Given the description of an element on the screen output the (x, y) to click on. 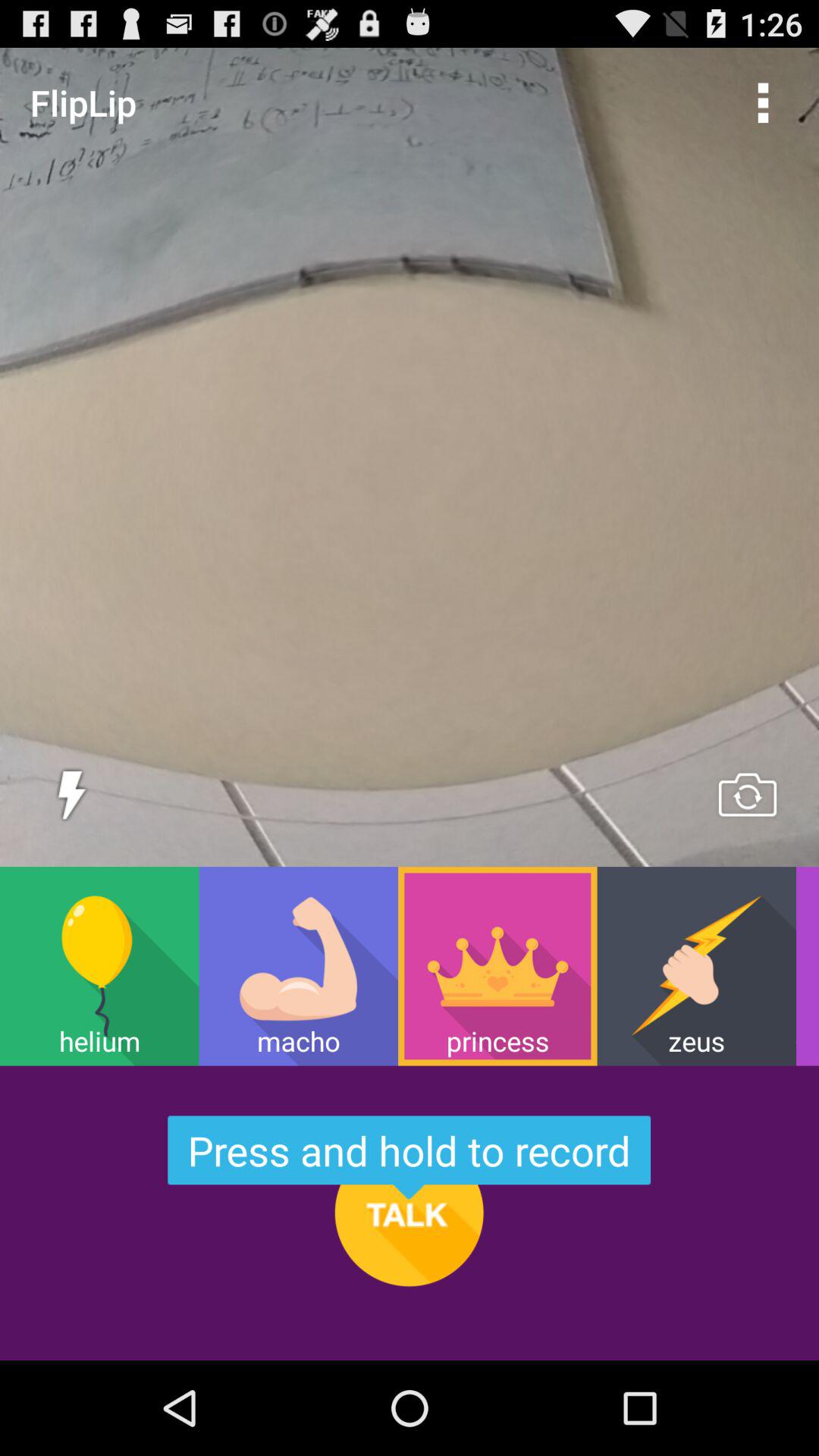
select the wacko item (807, 965)
